Given the description of an element on the screen output the (x, y) to click on. 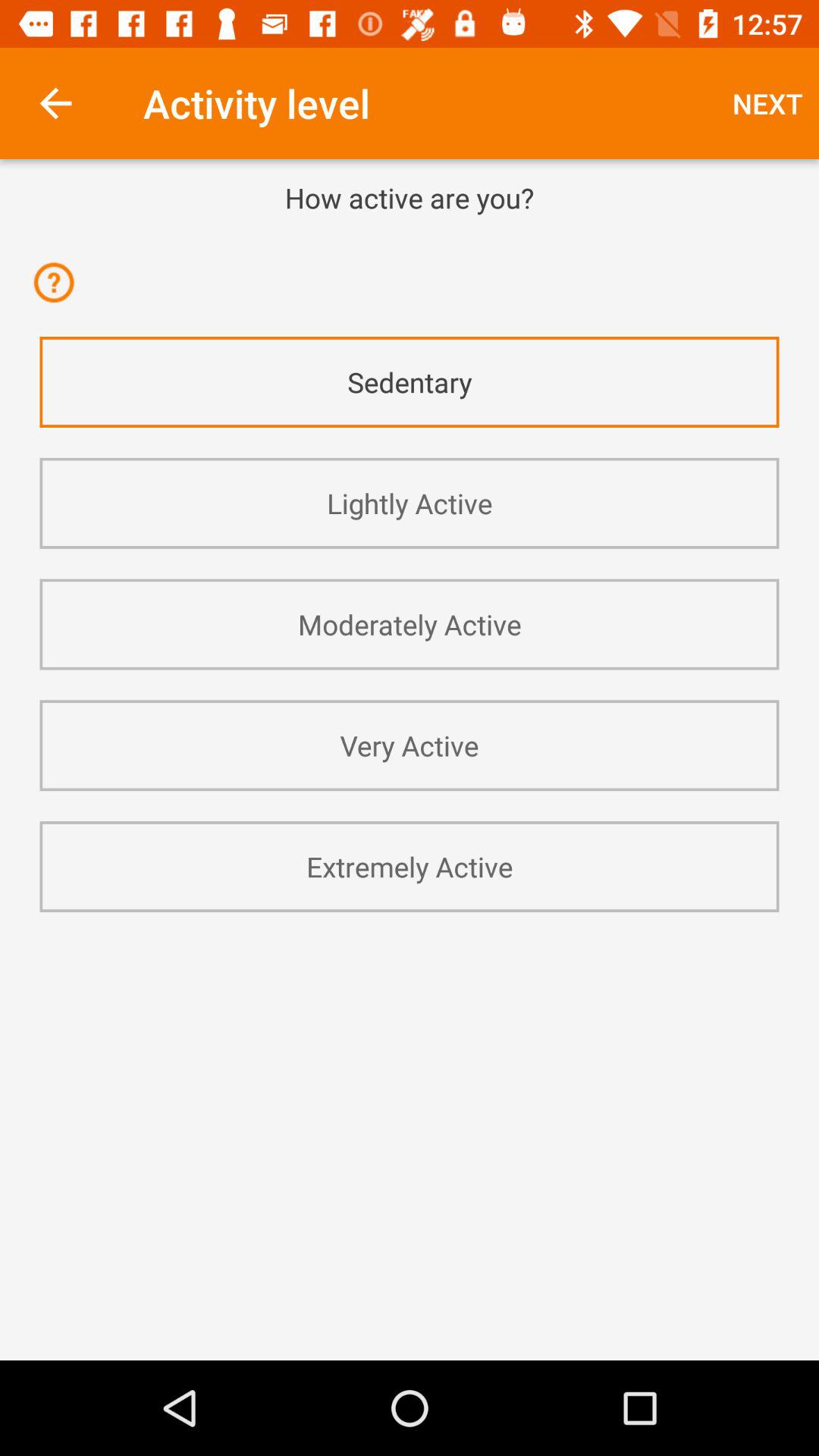
open the very active app (409, 745)
